Given the description of an element on the screen output the (x, y) to click on. 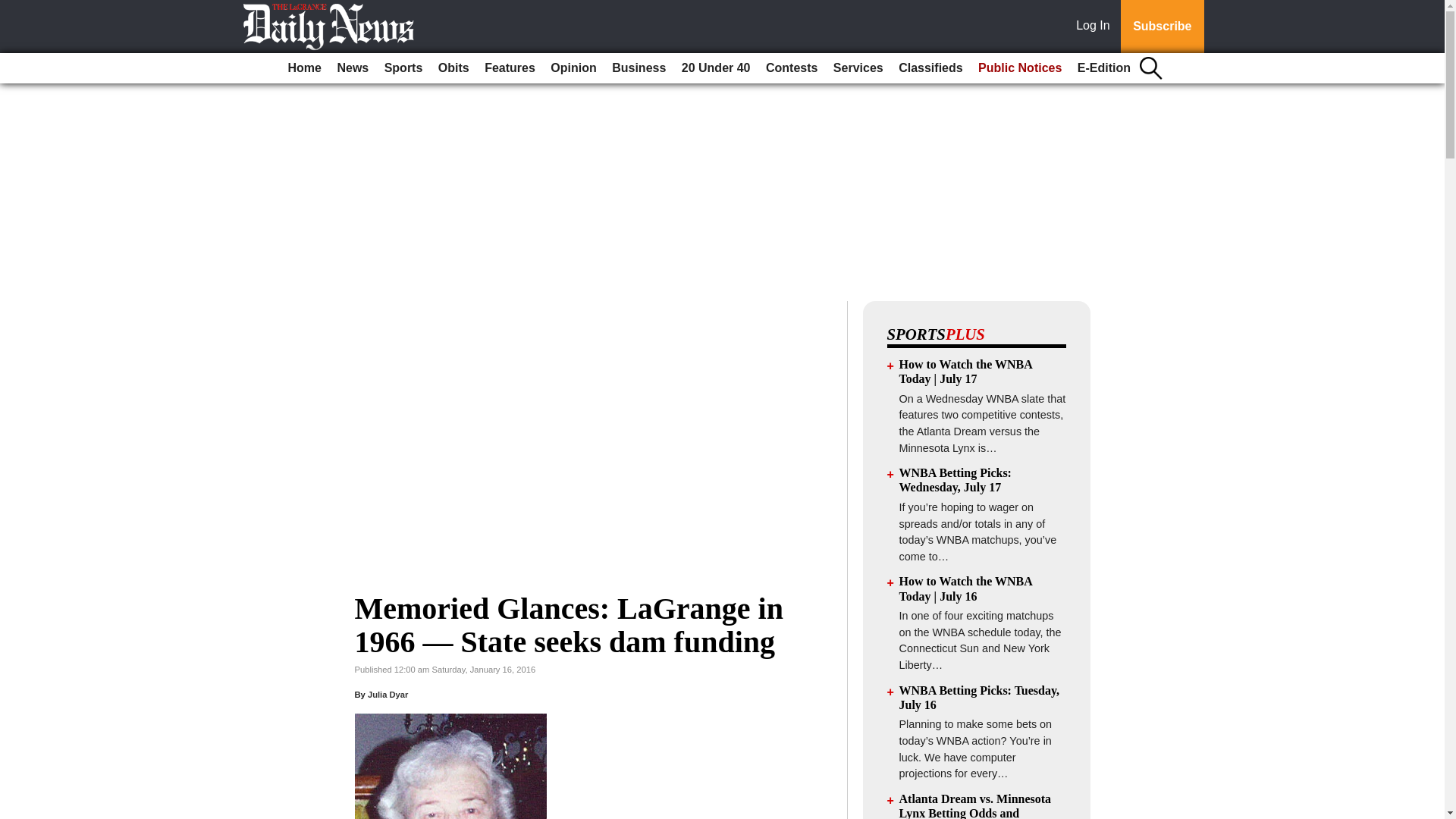
Obits (454, 68)
Julia Dyar (387, 694)
WNBA Betting Picks: Tuesday, July 16 (979, 697)
Contests (792, 68)
Opinion (573, 68)
Features (510, 68)
Subscribe (1162, 26)
Sports (403, 68)
Home (304, 68)
Log In (1095, 26)
Business (638, 68)
Services (858, 68)
Go (13, 9)
Classifieds (930, 68)
E-Edition (1104, 68)
